Given the description of an element on the screen output the (x, y) to click on. 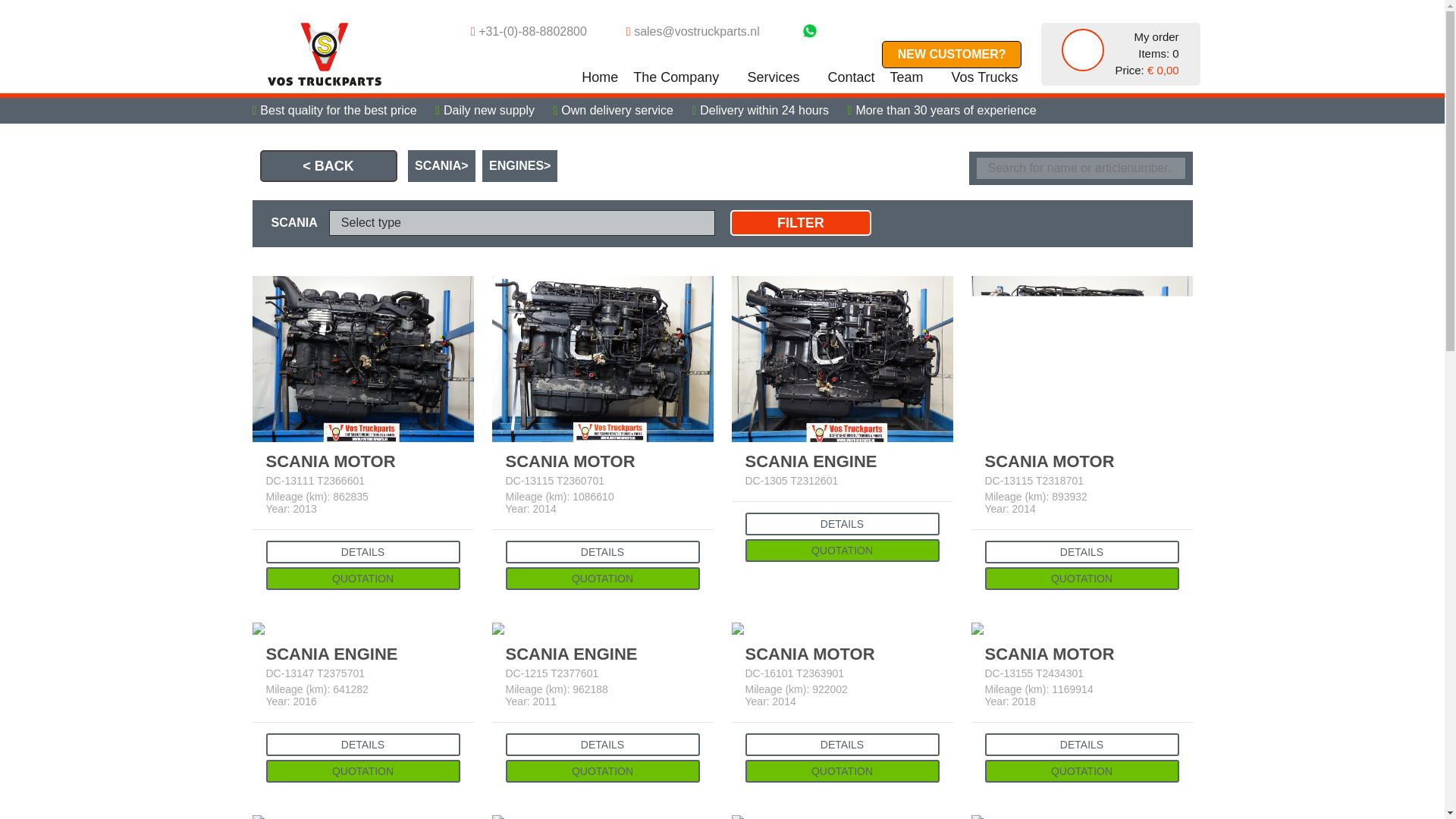
Nederlands (929, 29)
Vos Trucks (76, 563)
New customer? (56, 115)
Services (76, 325)
Terms and Conditions (55, 420)
The Company (682, 76)
Services (779, 76)
The Company (76, 167)
Location 3 - Hedel (58, 280)
English (902, 29)
